Given the description of an element on the screen output the (x, y) to click on. 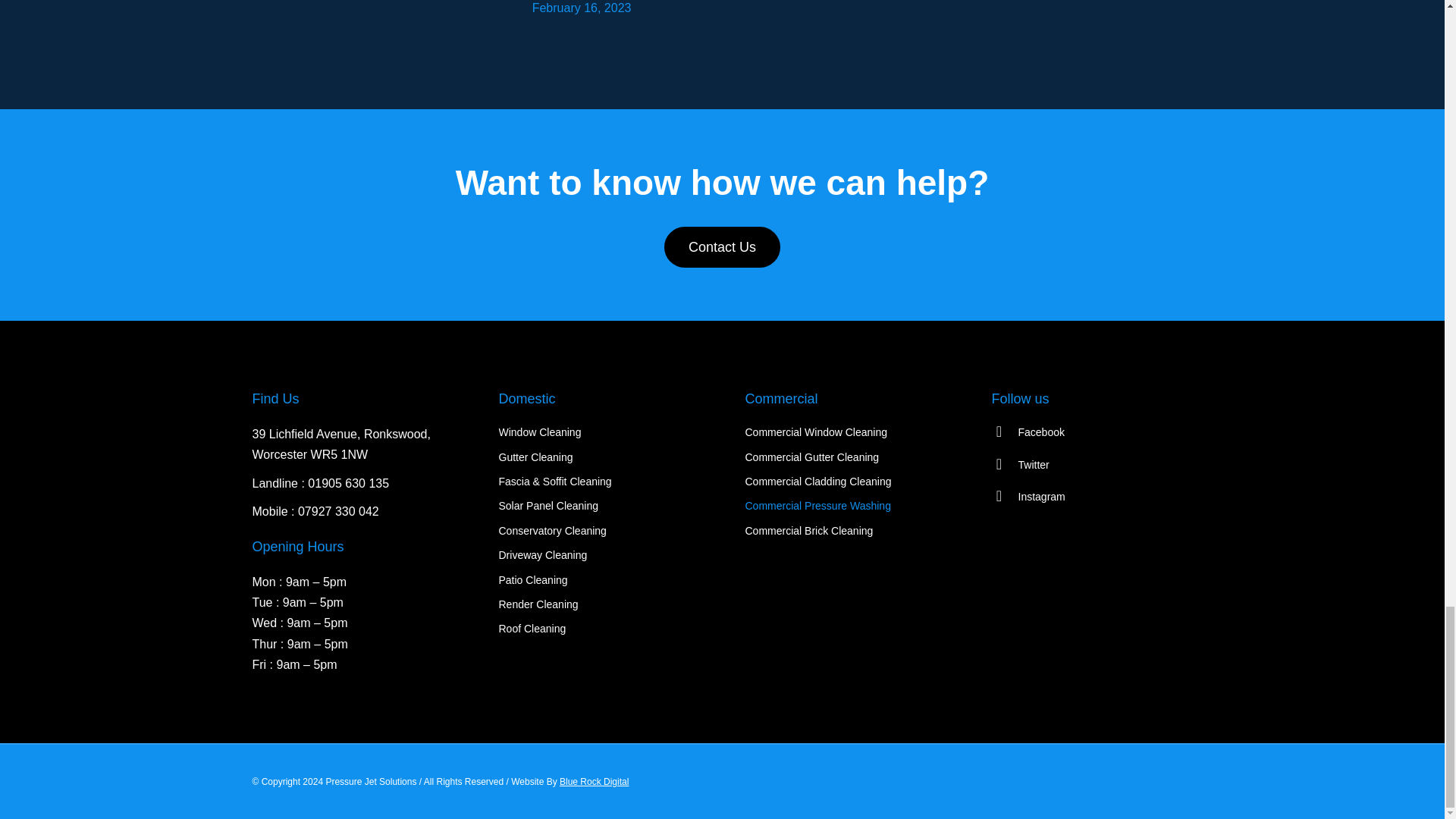
Contact Us (721, 246)
Driveway Cleaning (599, 555)
Window Cleaning (599, 432)
Solar Panel Cleaning (599, 505)
Roof Cleaning (599, 628)
Render Cleaning (599, 604)
Conservatory Cleaning (599, 530)
Patio Cleaning (599, 579)
Gutter Cleaning (599, 457)
